Given the description of an element on the screen output the (x, y) to click on. 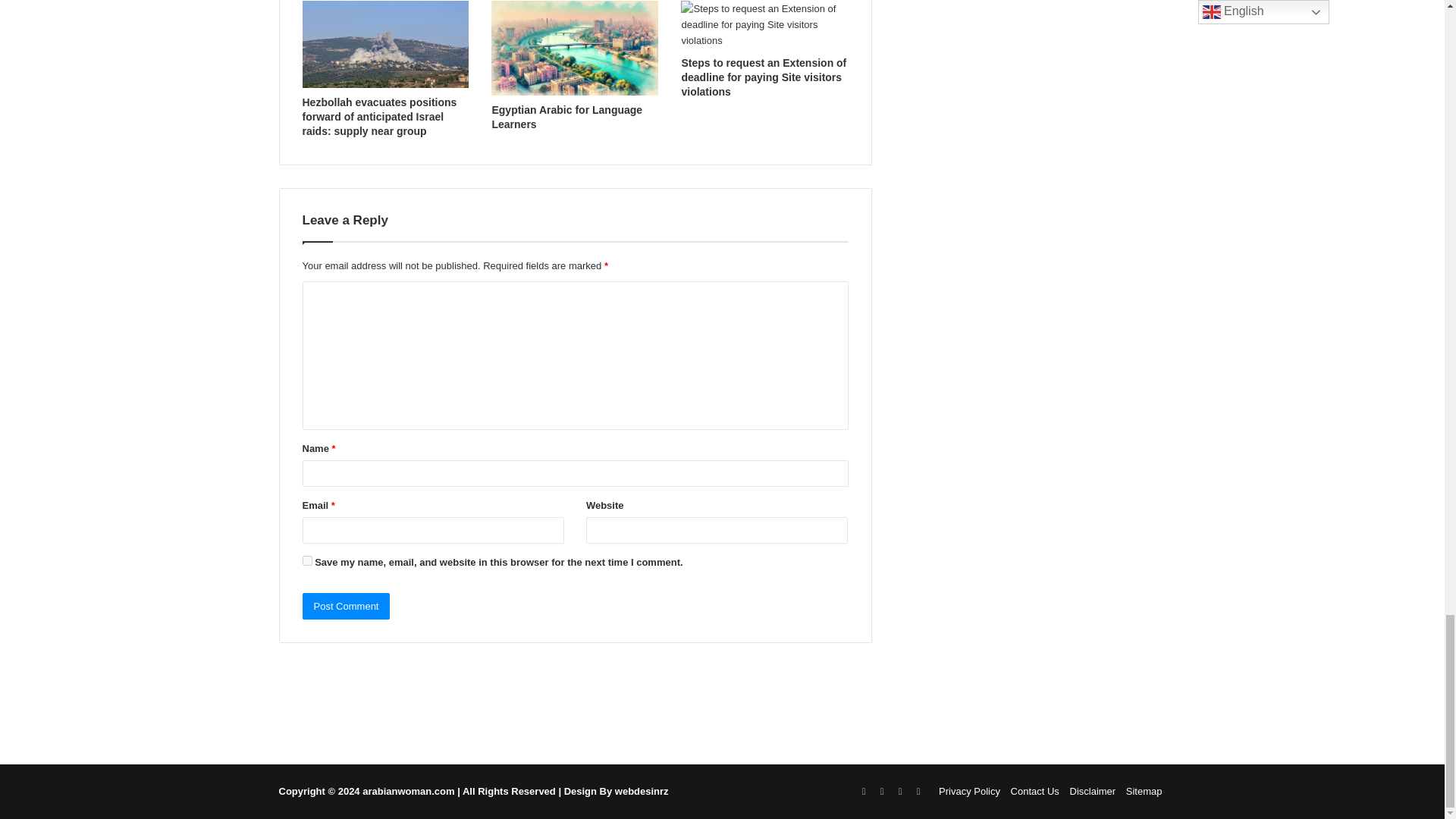
Post Comment (345, 605)
yes (306, 560)
